Given the description of an element on the screen output the (x, y) to click on. 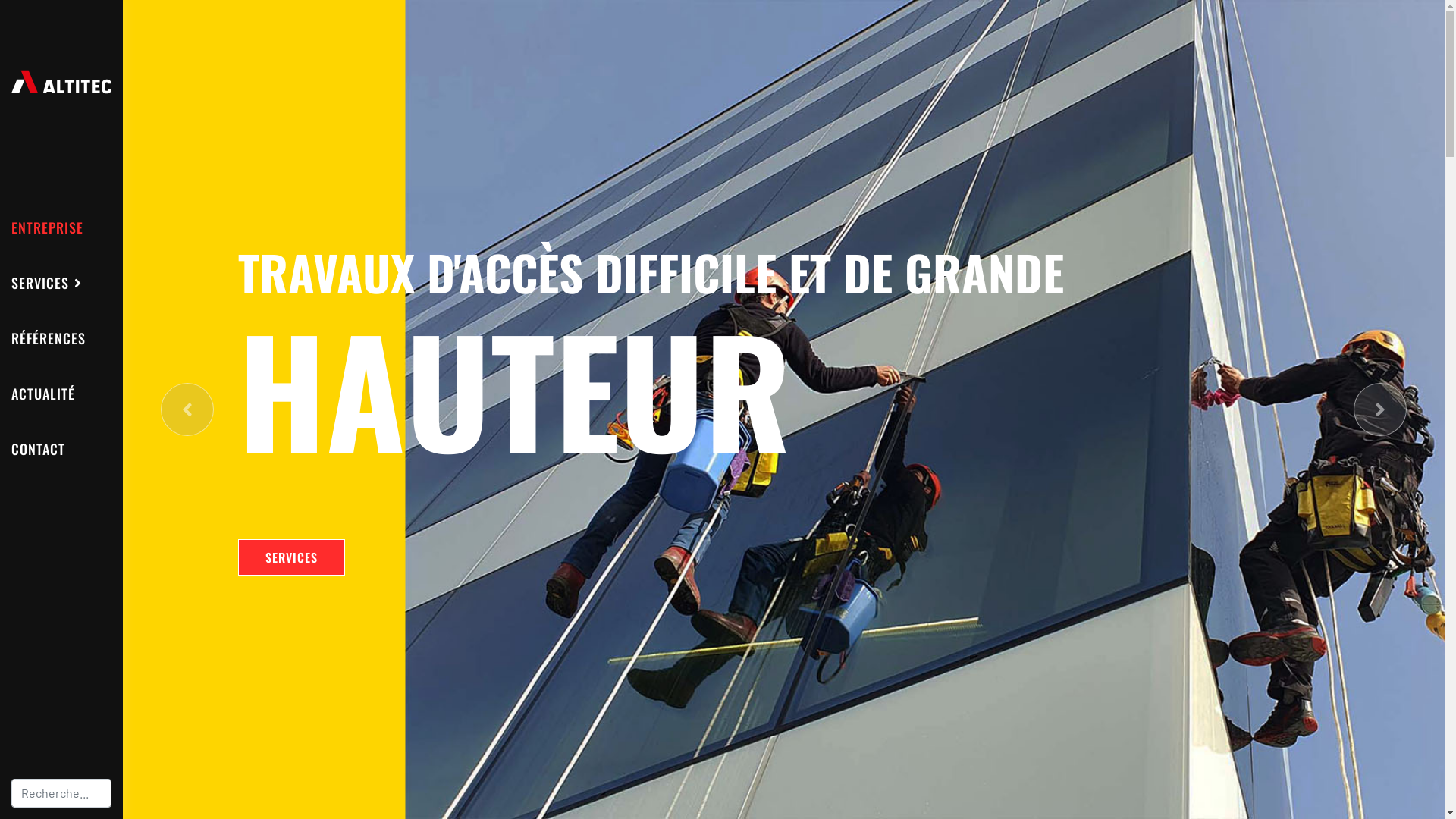
ENTREPRISE Element type: text (47, 227)
CONTACT Element type: text (38, 448)
SERVICES Element type: text (291, 557)
SERVICES Element type: text (46, 282)
